Given the description of an element on the screen output the (x, y) to click on. 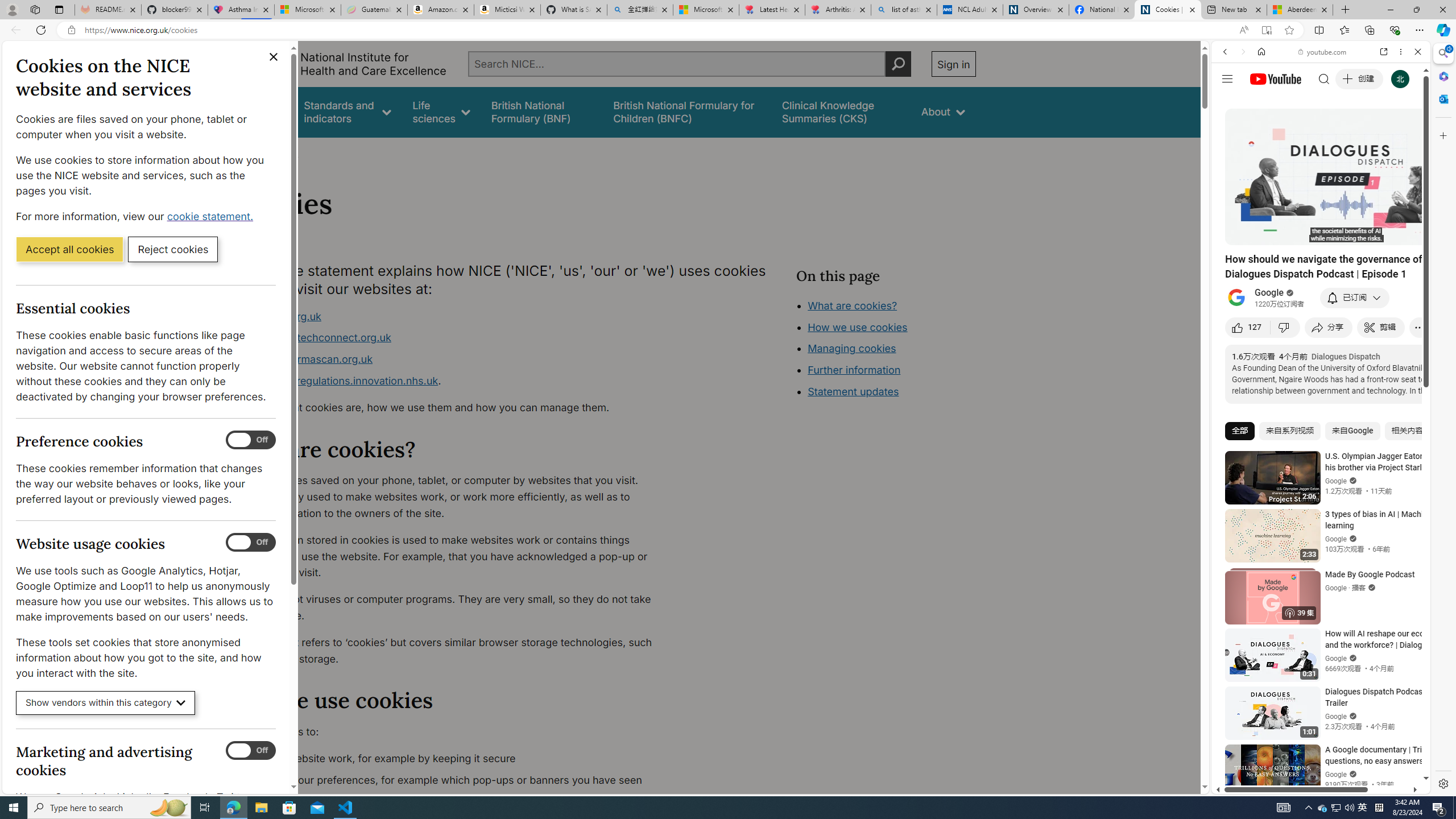
Website usage cookies (250, 542)
Further information (854, 369)
cookie statement. (Opens in a new window) (211, 215)
